Given the description of an element on the screen output the (x, y) to click on. 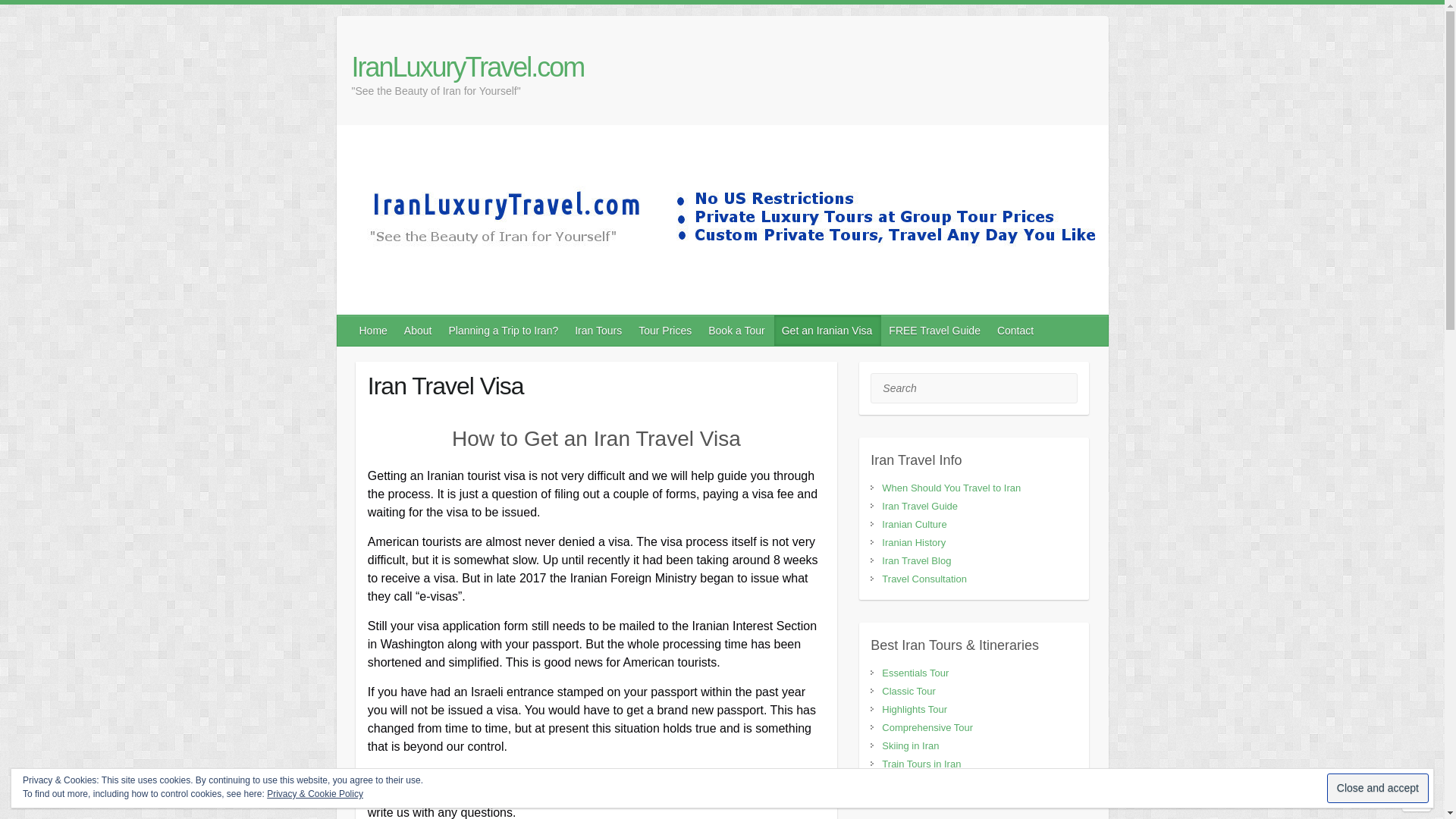
IranLuxuryTravel.com (468, 67)
Iranian History (913, 542)
Essentials Tour (915, 672)
About (418, 330)
Book a Tour (736, 330)
Iranian Culture (914, 523)
Planning a Trip to Iran? (504, 330)
Iran Travel Blog (916, 560)
Close and accept (1377, 788)
IranLuxuryTravel.com (468, 67)
